Given the description of an element on the screen output the (x, y) to click on. 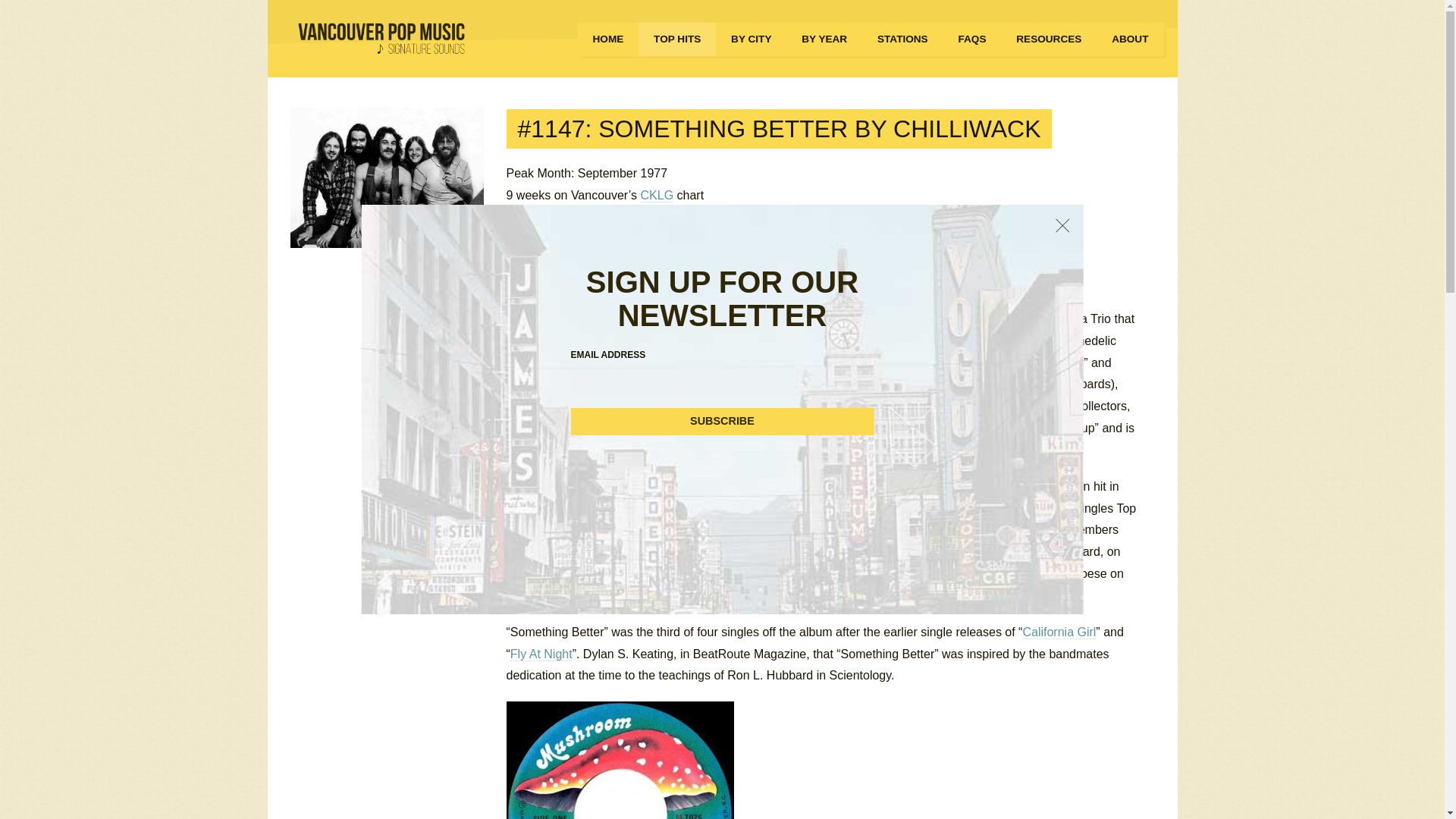
CKLG (656, 195)
FAQS (971, 39)
Something Better by Chilliwack (386, 177)
Something Better (637, 260)
BY CITY (751, 39)
STATIONS (902, 39)
RESOURCES (1048, 39)
Crazy Talk (877, 508)
Lonesome Mary (638, 508)
Fly At Night (541, 653)
